Given the description of an element on the screen output the (x, y) to click on. 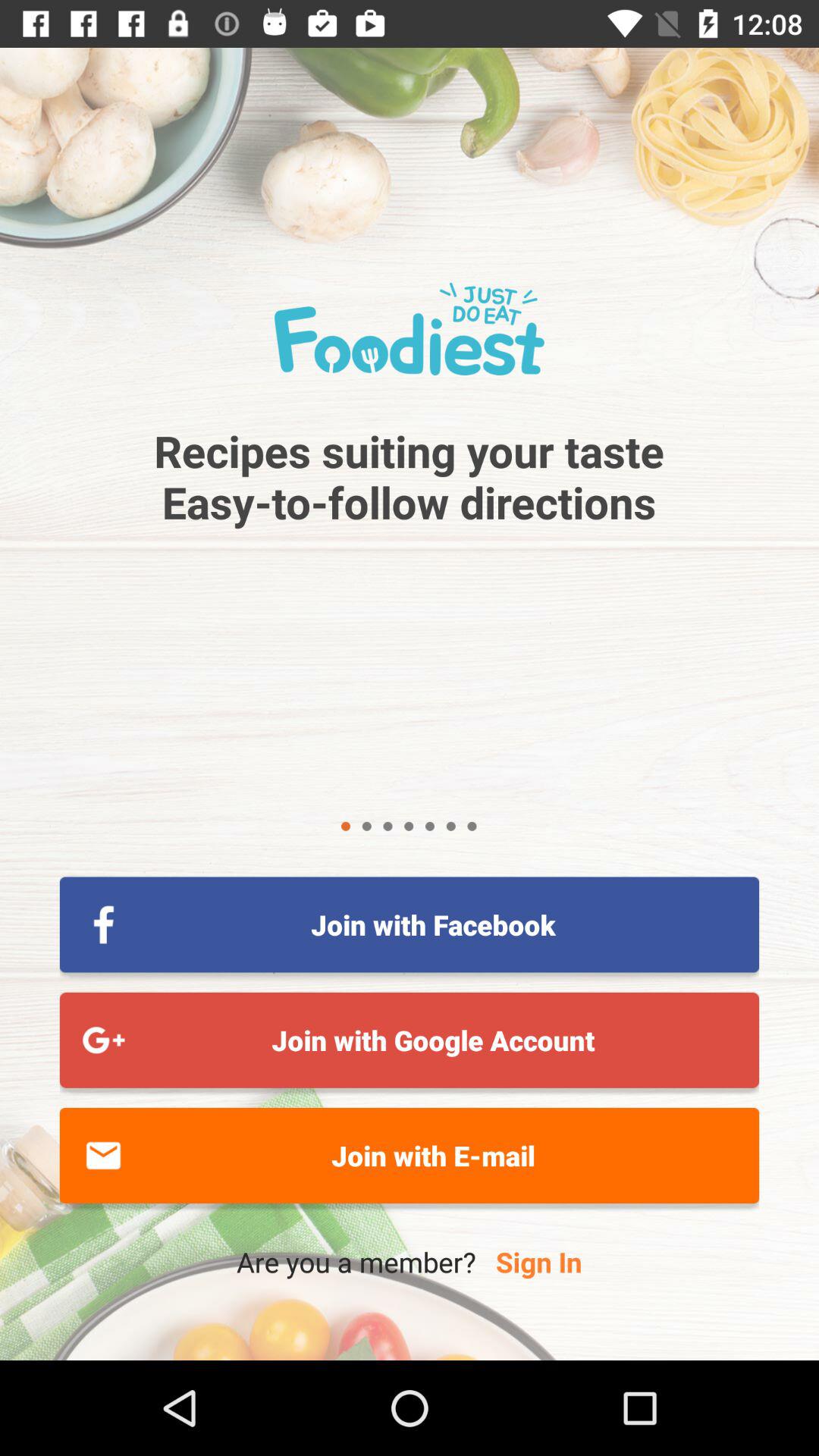
press the icon to the right of are you a icon (538, 1261)
